Given the description of an element on the screen output the (x, y) to click on. 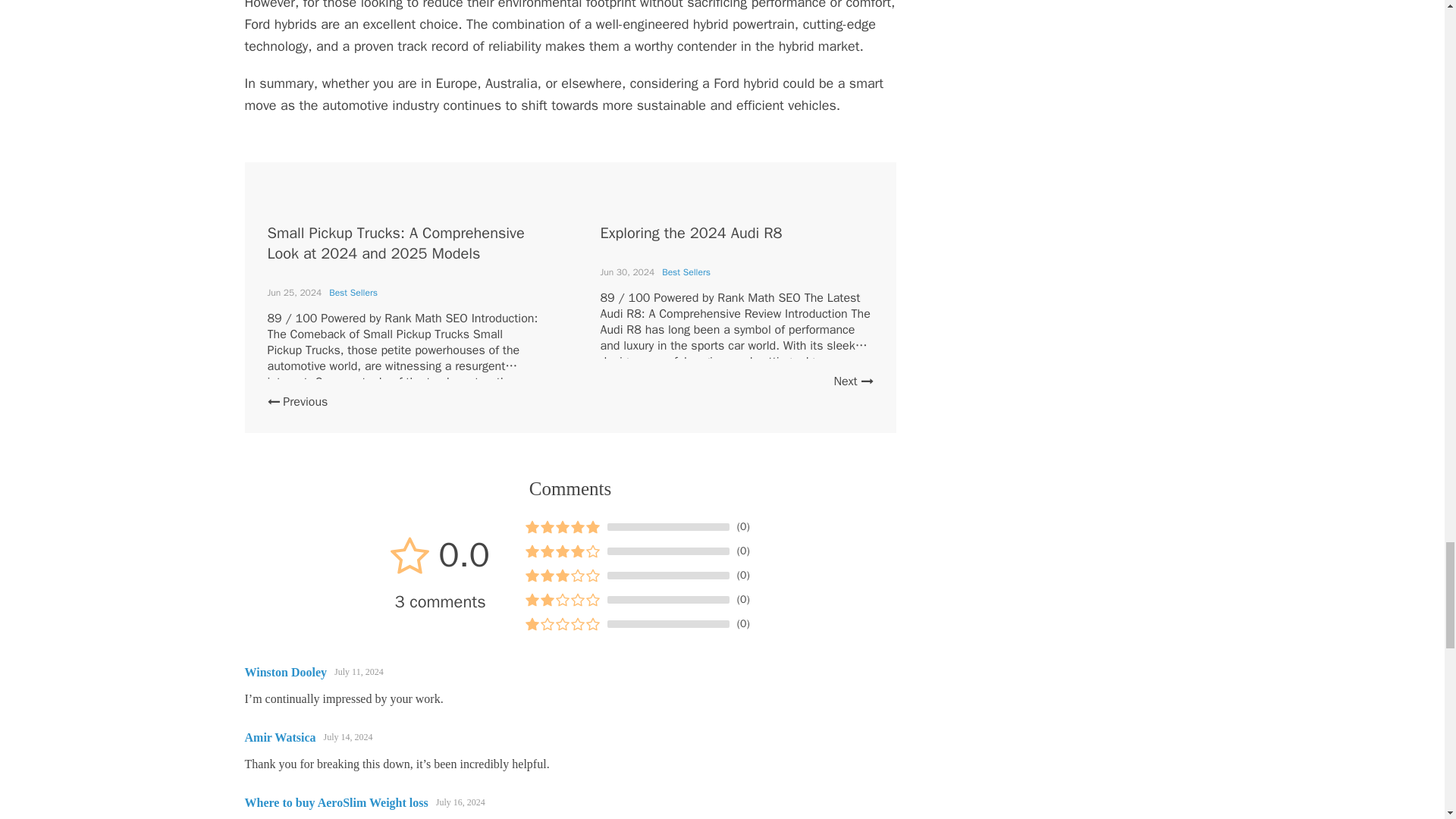
Best Sellers (686, 272)
Winston Dooley (285, 671)
Where to buy AeroSlim Weight loss (336, 802)
Next (852, 381)
Amir Watsica (279, 737)
Previous (296, 401)
Best Sellers (353, 292)
Exploring the 2024 Audi R8 (691, 232)
